Given the description of an element on the screen output the (x, y) to click on. 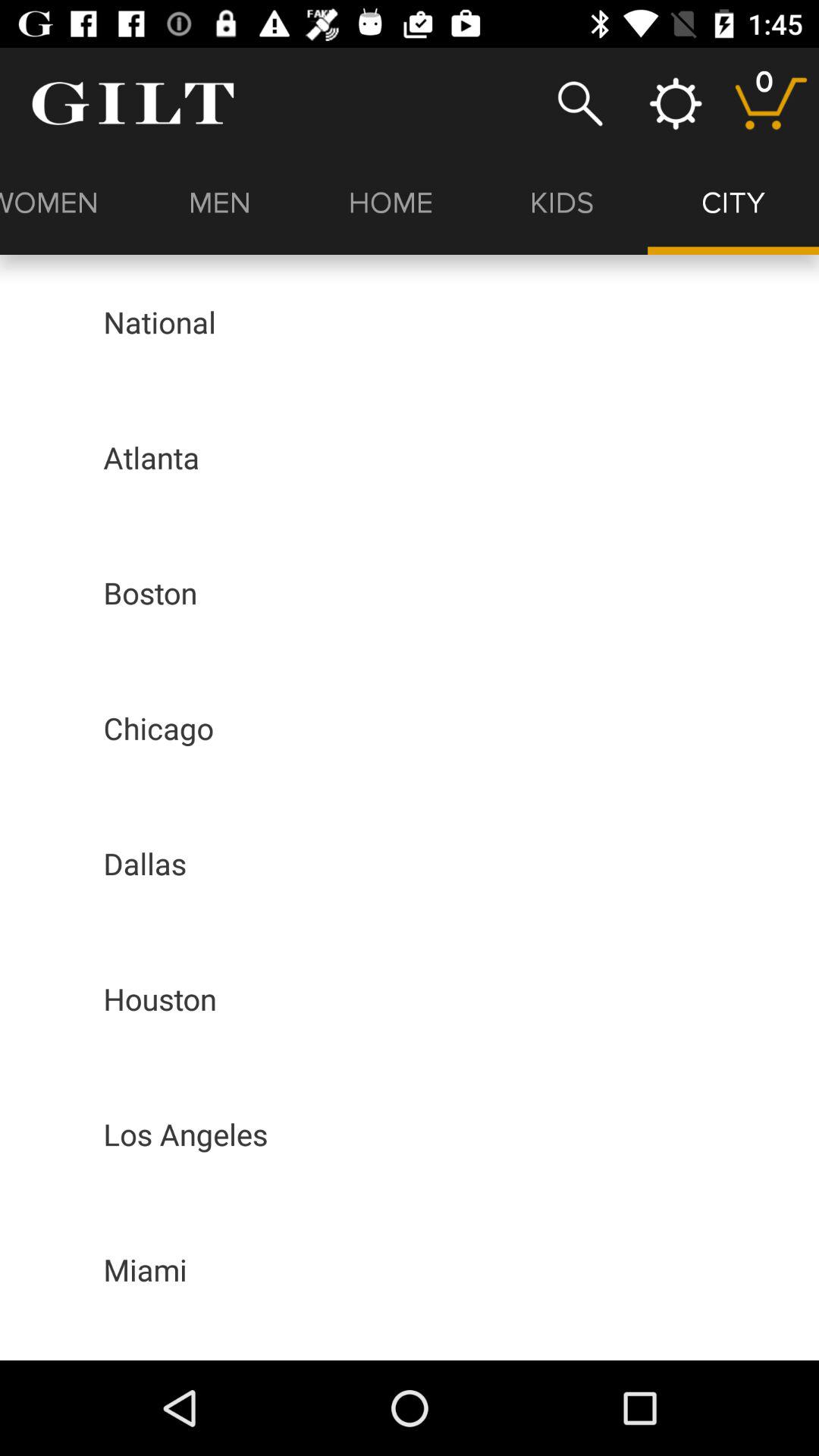
shopping cart see what you 're buying (771, 103)
